Given the description of an element on the screen output the (x, y) to click on. 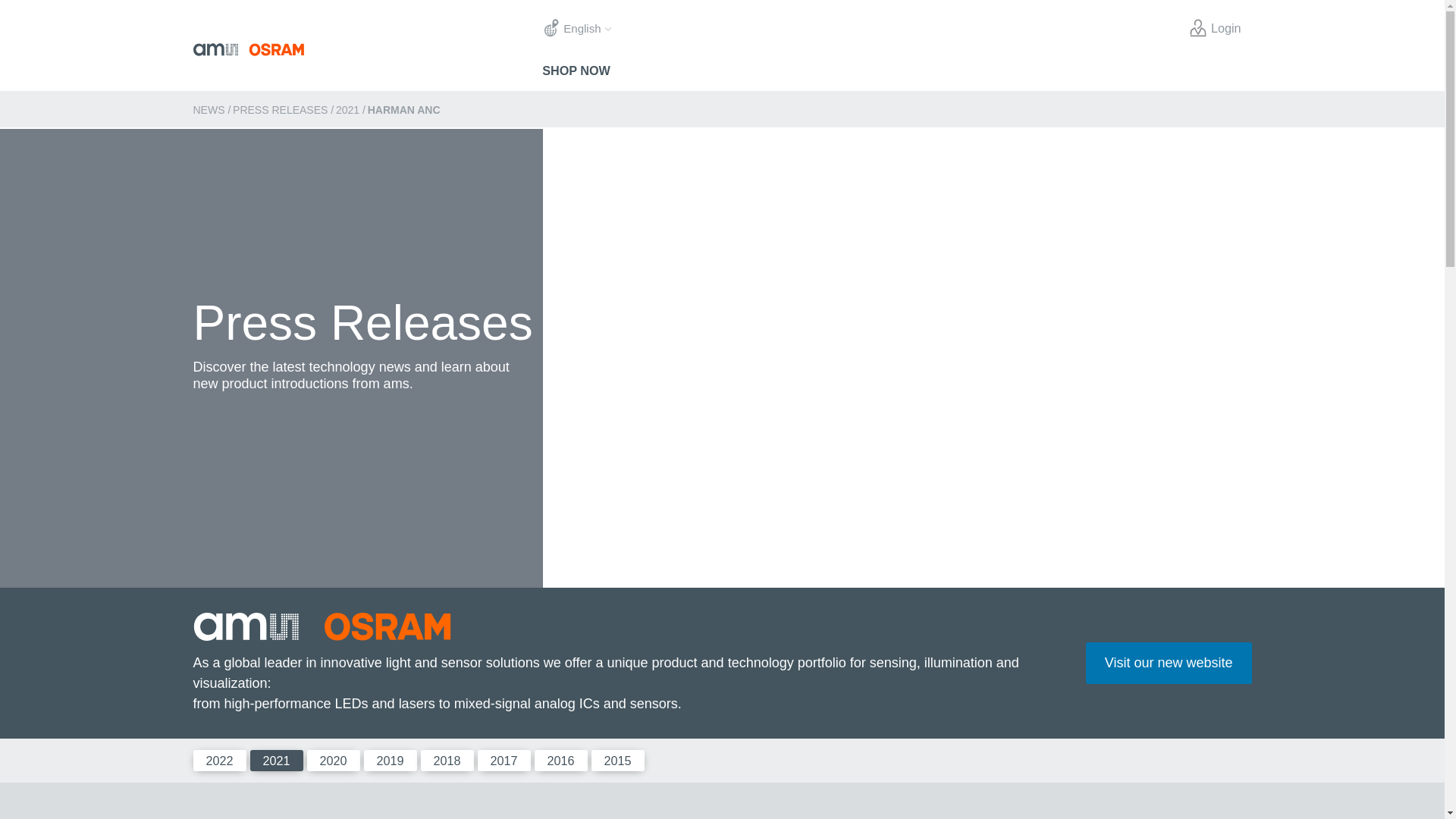
SHOP NOW (575, 70)
ams (366, 49)
English (576, 29)
Login (1214, 28)
